Given the description of an element on the screen output the (x, y) to click on. 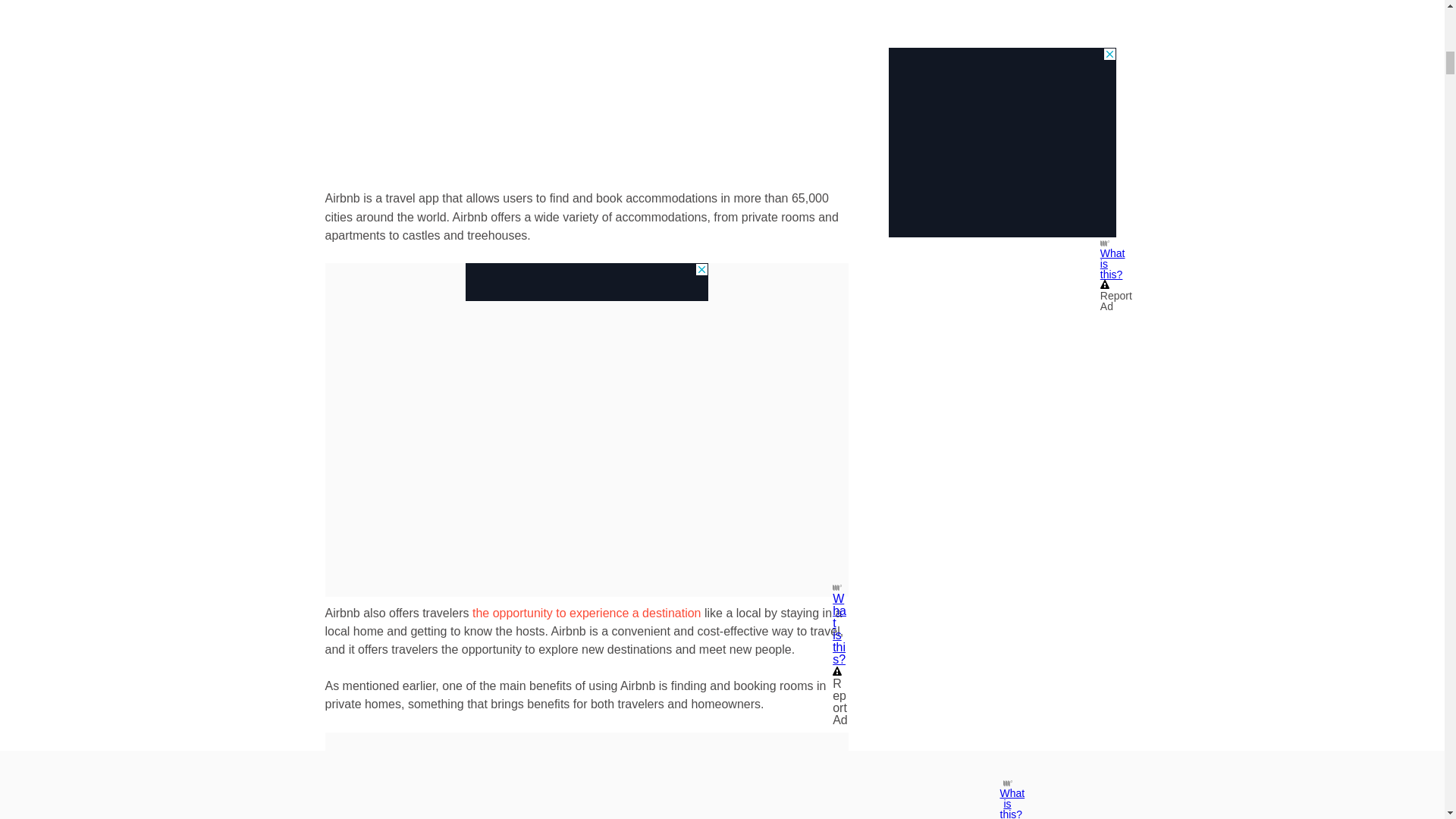
How Traveling Without an Itinerary Enhances Your Experience (586, 612)
3rd party ad content (586, 281)
